Given the description of an element on the screen output the (x, y) to click on. 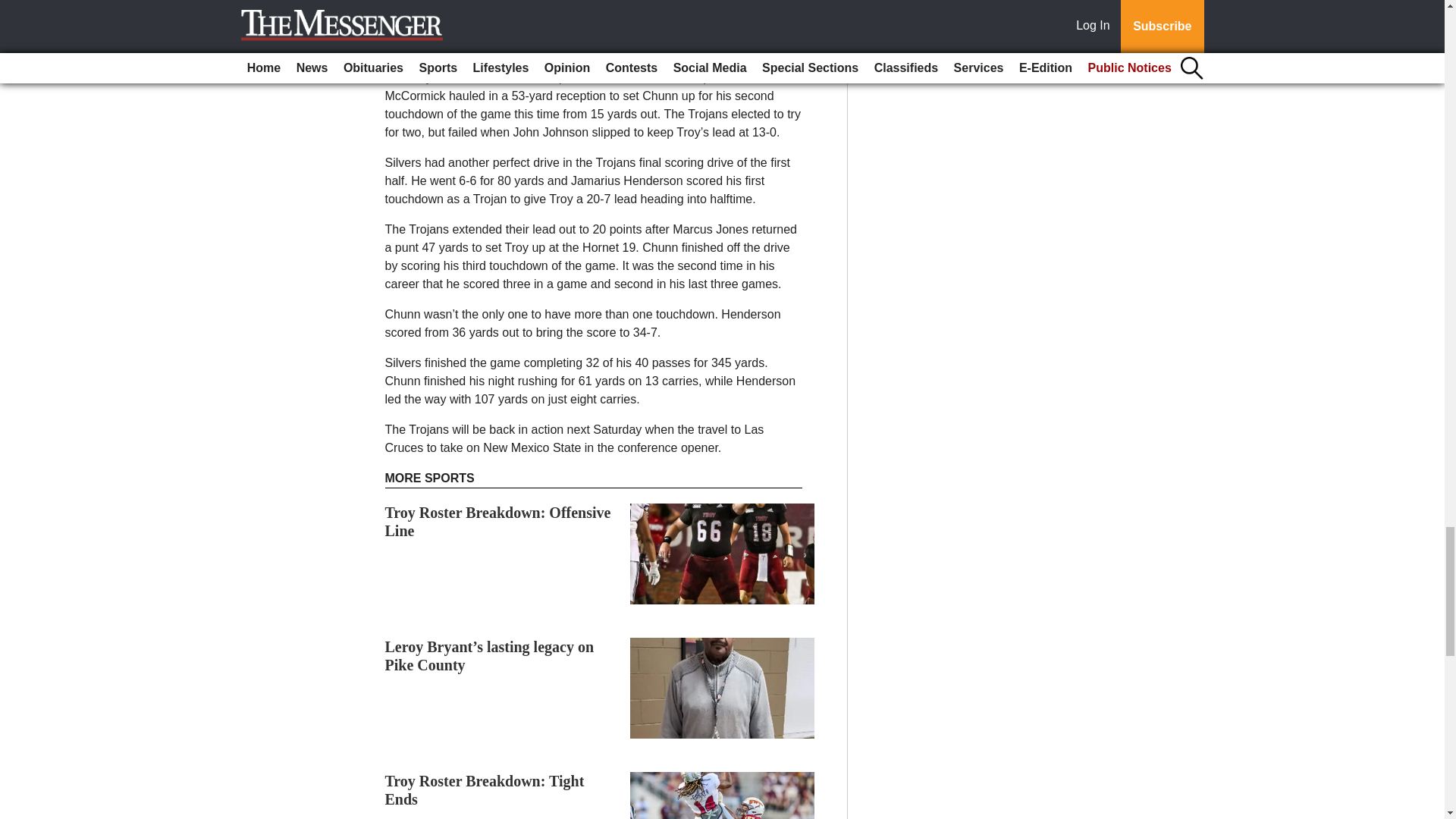
Troy Roster Breakdown: Offensive Line (498, 521)
Troy Roster Breakdown: Tight Ends (485, 790)
